Given the description of an element on the screen output the (x, y) to click on. 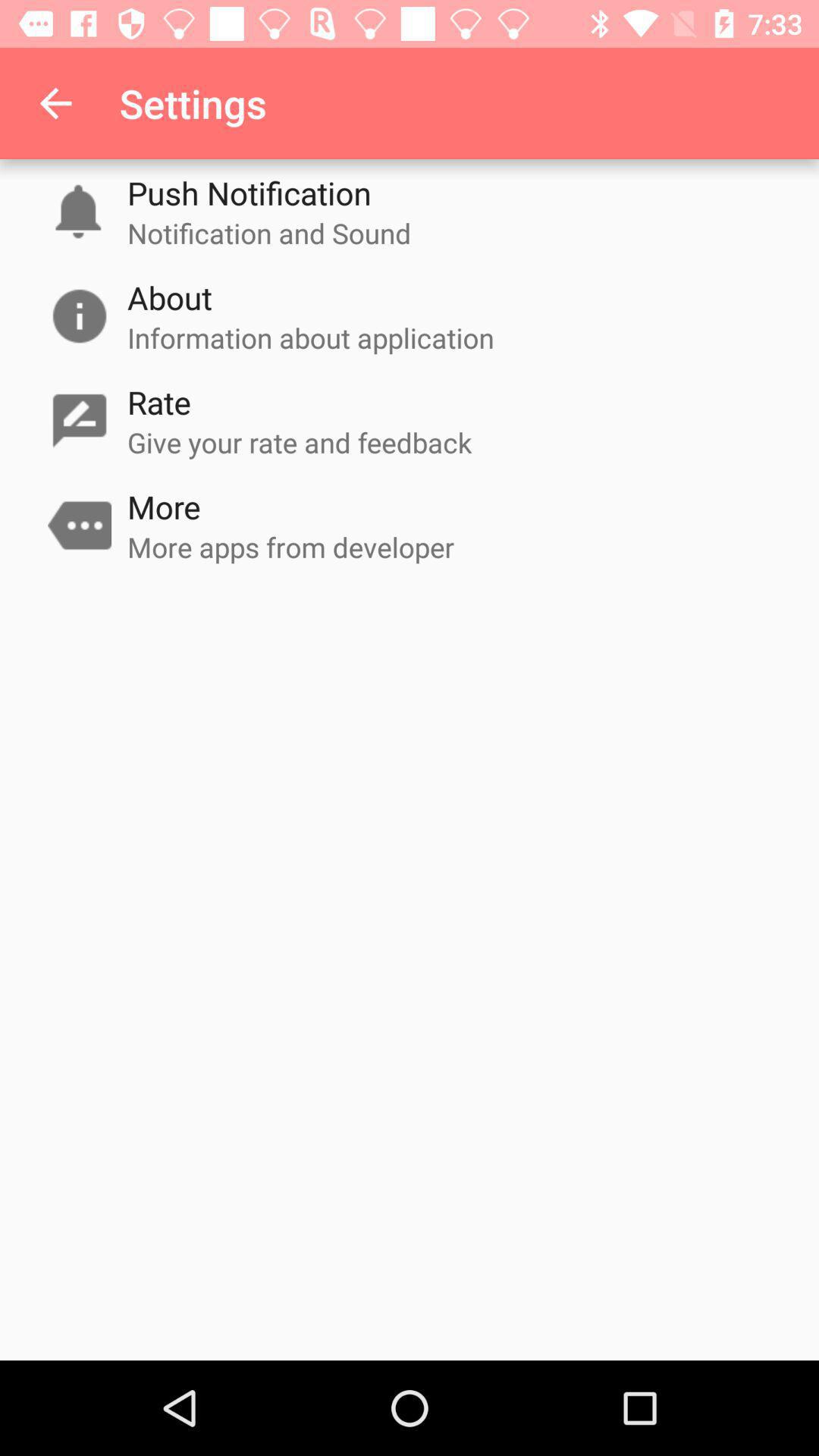
launch information about application (310, 337)
